Given the description of an element on the screen output the (x, y) to click on. 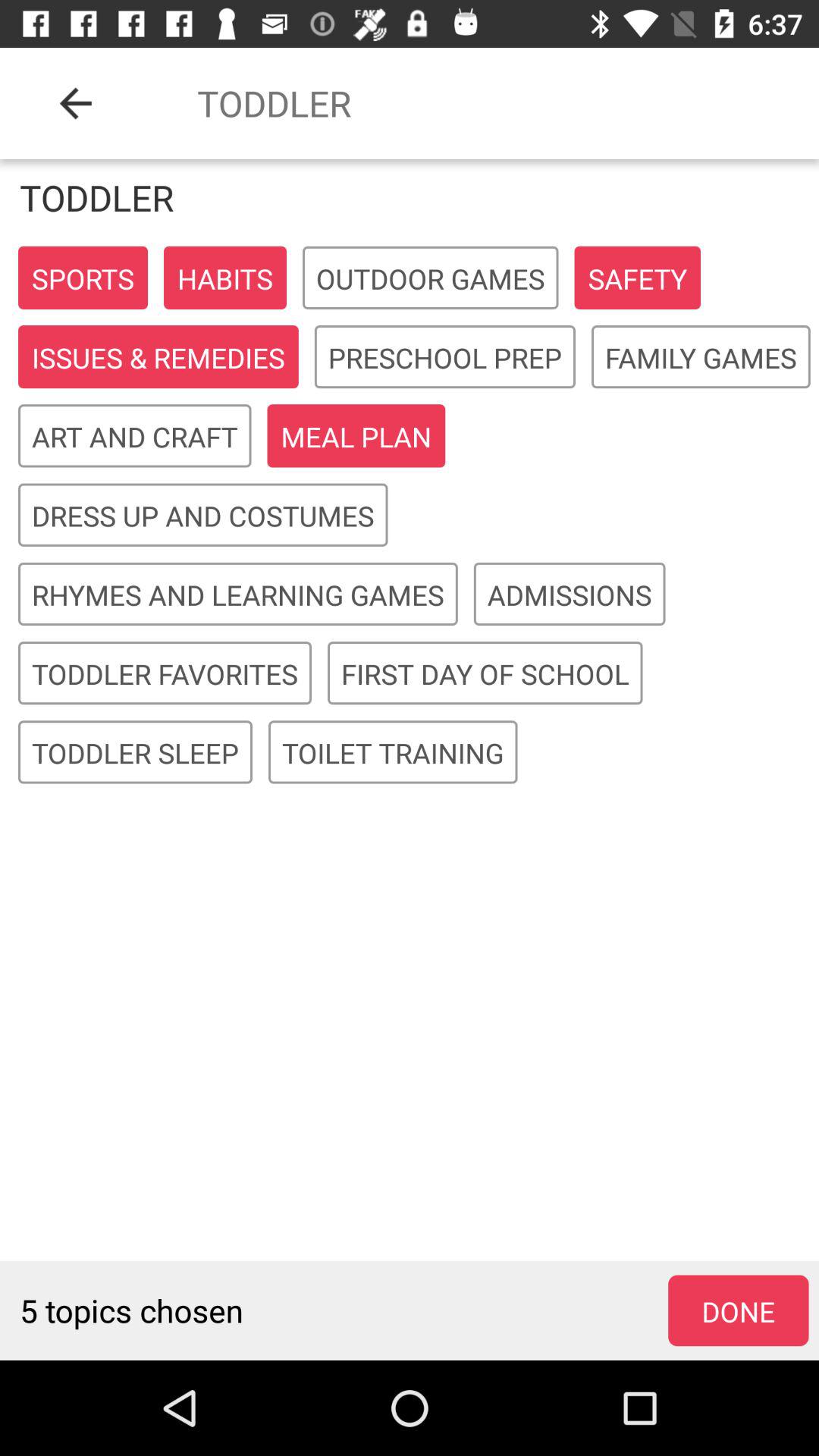
go to the previous page (75, 103)
